Given the description of an element on the screen output the (x, y) to click on. 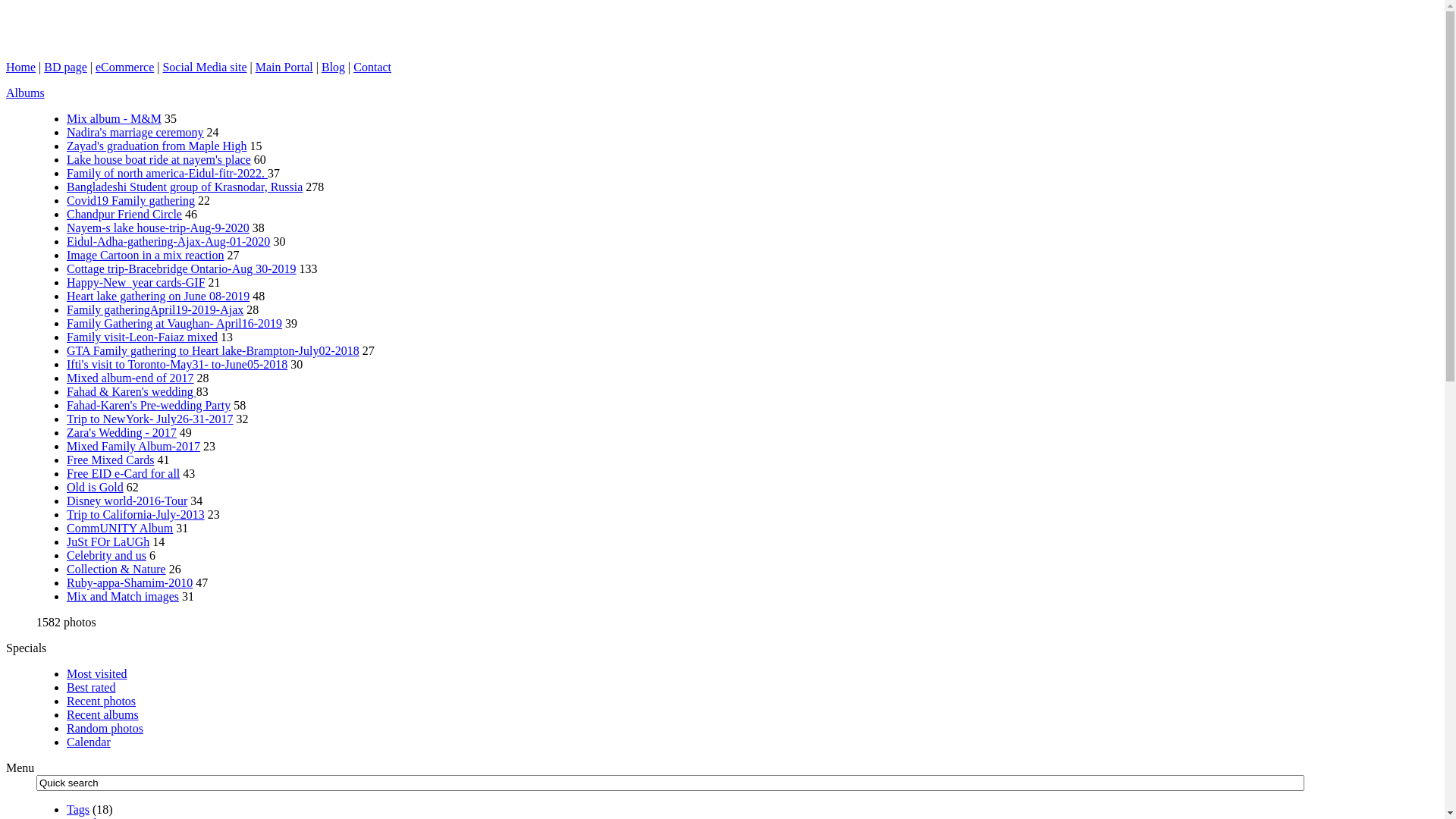
Social Media site Element type: text (204, 66)
Main Portal Element type: text (284, 66)
Covid19 Family gathering Element type: text (130, 200)
Family visit-Leon-Faiaz mixed Element type: text (141, 336)
Heart lake gathering on June 08-2019 Element type: text (157, 295)
Nayem-s lake house-trip-Aug-9-2020 Element type: text (157, 227)
Ifti's visit to Toronto-May31- to-June05-2018 Element type: text (176, 363)
Happy-New_year cards-GIF Element type: text (135, 282)
Lake house boat ride at nayem's place Element type: text (158, 159)
Family Gathering at Vaughan- April16-2019 Element type: text (174, 322)
Bangladeshi Student group of Krasnodar, Russia Element type: text (184, 186)
Celebrity and us Element type: text (106, 555)
Mix album - M&M Element type: text (113, 118)
Trip to NewYork- July26-31-2017 Element type: text (149, 418)
Family of north america-Eidul-fitr-2022. Element type: text (166, 172)
JuSt FOr LaUGh Element type: text (107, 541)
GTA Family gathering to Heart lake-Brampton-July02-2018 Element type: text (212, 350)
eCommerce Element type: text (124, 66)
Fahad & Karen's wedding Element type: text (131, 391)
Mix and Match images Element type: text (122, 595)
Contact Element type: text (372, 66)
Calendar Element type: text (88, 741)
Cottage trip-Bracebridge Ontario-Aug 30-2019 Element type: text (181, 268)
Mixed Family Album-2017 Element type: text (133, 445)
CommUNITY Album Element type: text (119, 527)
Trip to California-July-2013 Element type: text (135, 514)
Free EID e-Card for all Element type: text (122, 473)
Tags Element type: text (77, 809)
Free Mixed Cards Element type: text (110, 459)
Mixed album-end of 2017 Element type: text (130, 377)
Fahad-Karen's Pre-wedding Party Element type: text (148, 404)
Disney world-2016-Tour Element type: text (126, 500)
Most visited Element type: text (96, 673)
Recent albums Element type: text (102, 714)
Eidul-Adha-gathering-Ajax-Aug-01-2020 Element type: text (167, 241)
Best rated Element type: text (90, 686)
Home Element type: text (20, 66)
Random photos Element type: text (104, 727)
Recent photos Element type: text (100, 700)
Collection & Nature Element type: text (116, 568)
BD page Element type: text (64, 66)
Zayad's graduation from Maple High Element type: text (156, 145)
Old is Gold Element type: text (94, 486)
Chandpur Friend Circle Element type: text (124, 213)
Zara's Wedding - 2017 Element type: text (121, 432)
Blog Element type: text (333, 66)
Albums Element type: text (25, 92)
Nadira's marriage ceremony Element type: text (134, 131)
Image Cartoon in a mix reaction Element type: text (144, 254)
Family gatheringApril19-2019-Ajax Element type: text (154, 309)
Ruby-appa-Shamim-2010 Element type: text (129, 582)
